Given the description of an element on the screen output the (x, y) to click on. 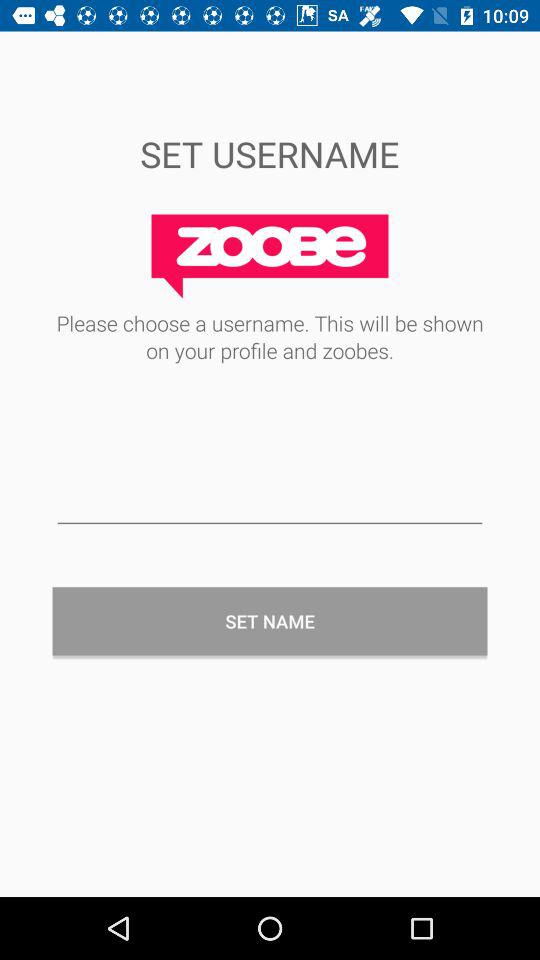
launch set name (269, 621)
